Given the description of an element on the screen output the (x, y) to click on. 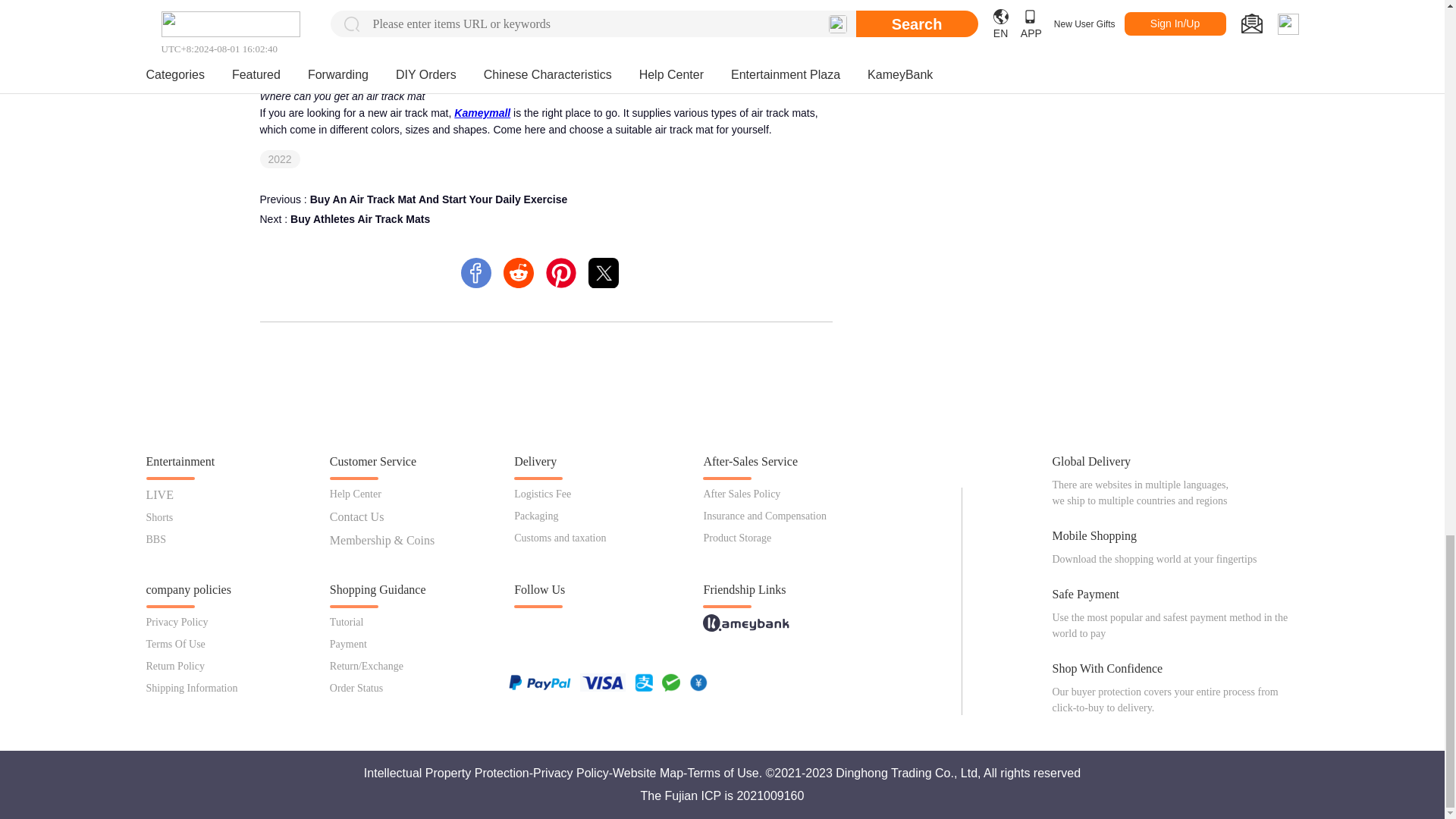
Created with Pixso. (603, 272)
Kameymall (482, 112)
2022 (279, 159)
